Given the description of an element on the screen output the (x, y) to click on. 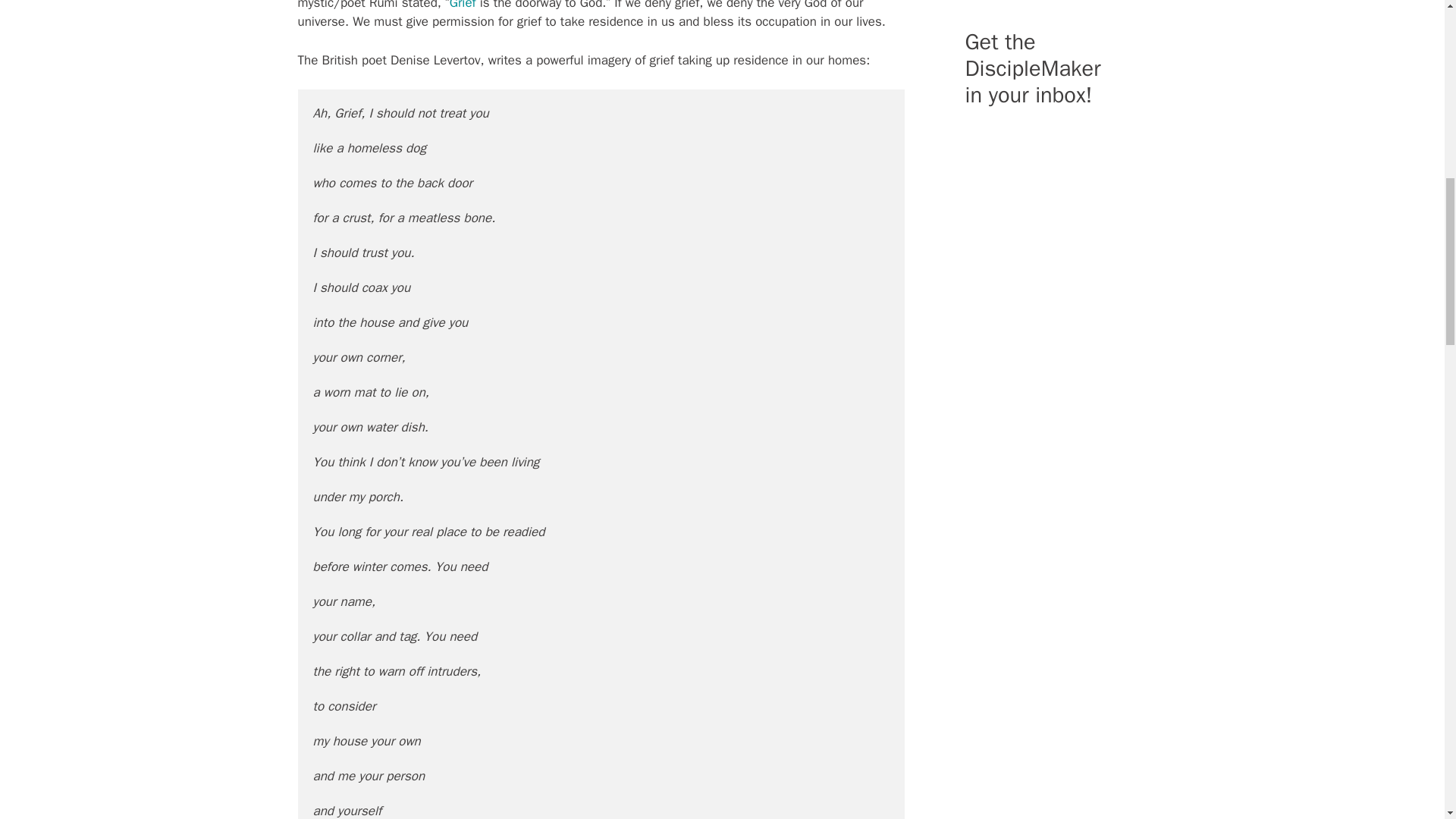
Grief (464, 5)
